Given the description of an element on the screen output the (x, y) to click on. 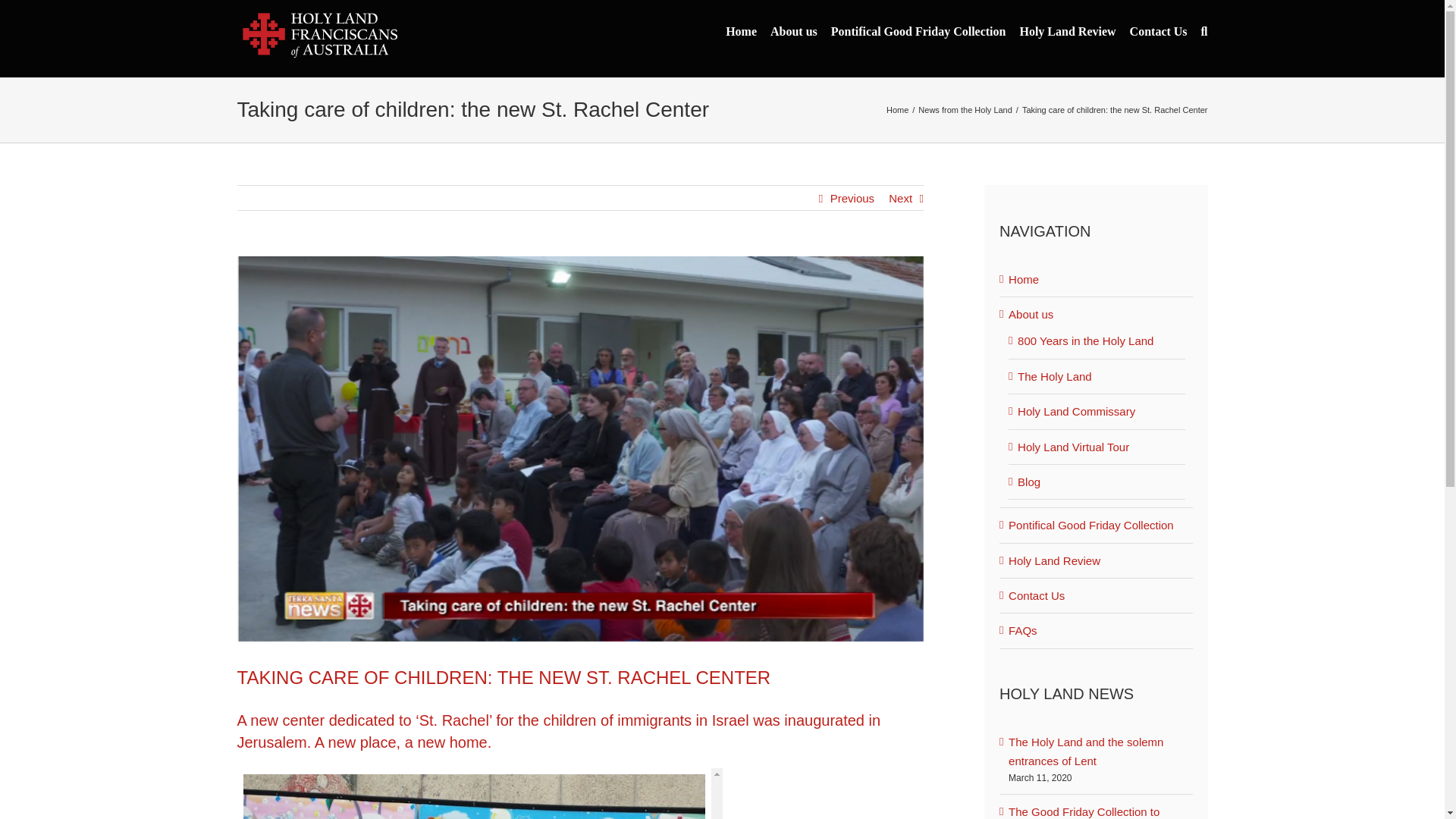
Contact Us (1158, 31)
Home (897, 109)
Home (741, 31)
Holy Land Review (1067, 31)
Search (1204, 31)
Next (900, 198)
About us (793, 31)
Pontifical Good Friday Collection (918, 31)
Previous (852, 198)
News from the Holy Land (964, 109)
